Given the description of an element on the screen output the (x, y) to click on. 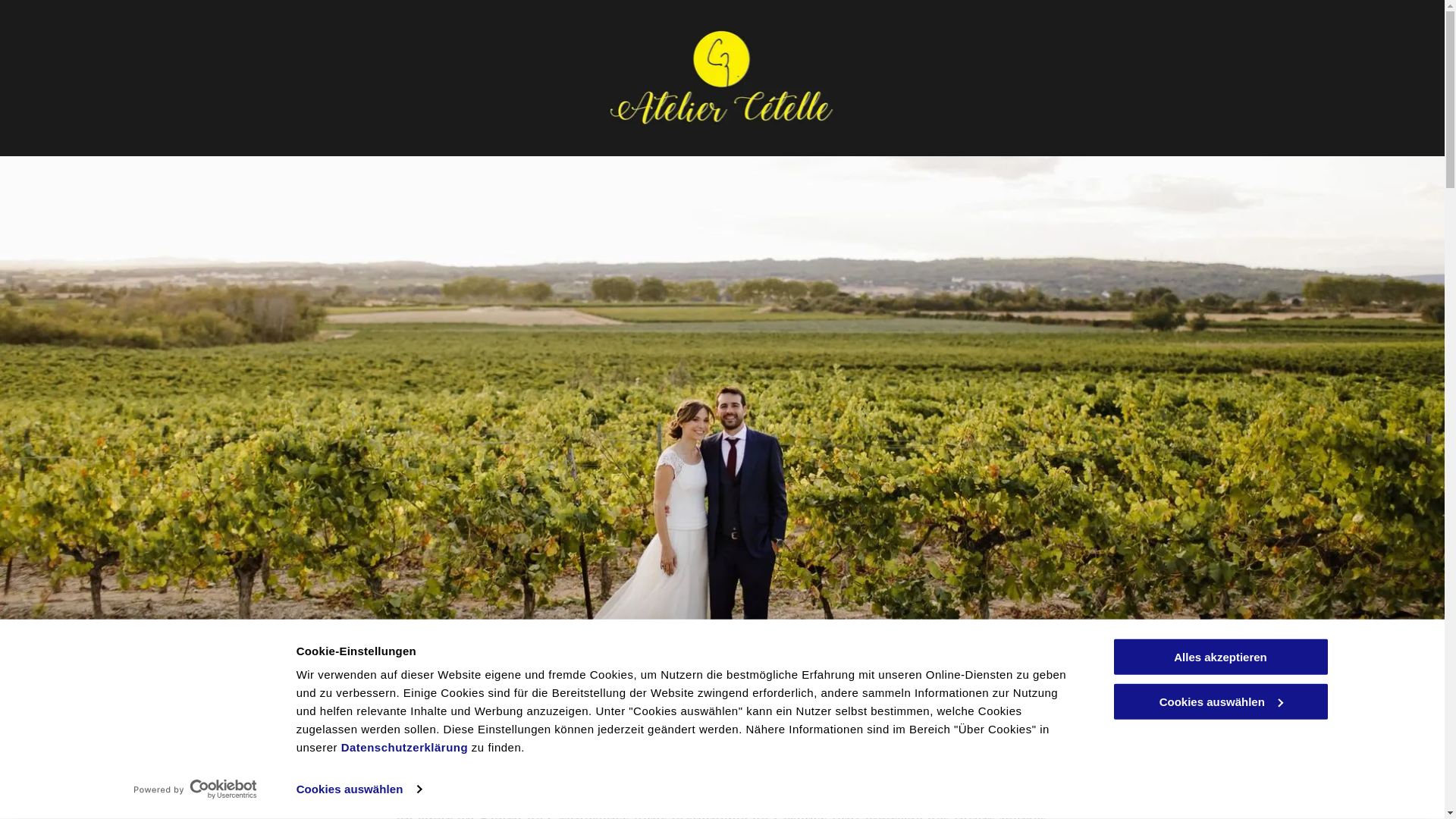
Alles akzeptieren Element type: text (1219, 656)
